Given the description of an element on the screen output the (x, y) to click on. 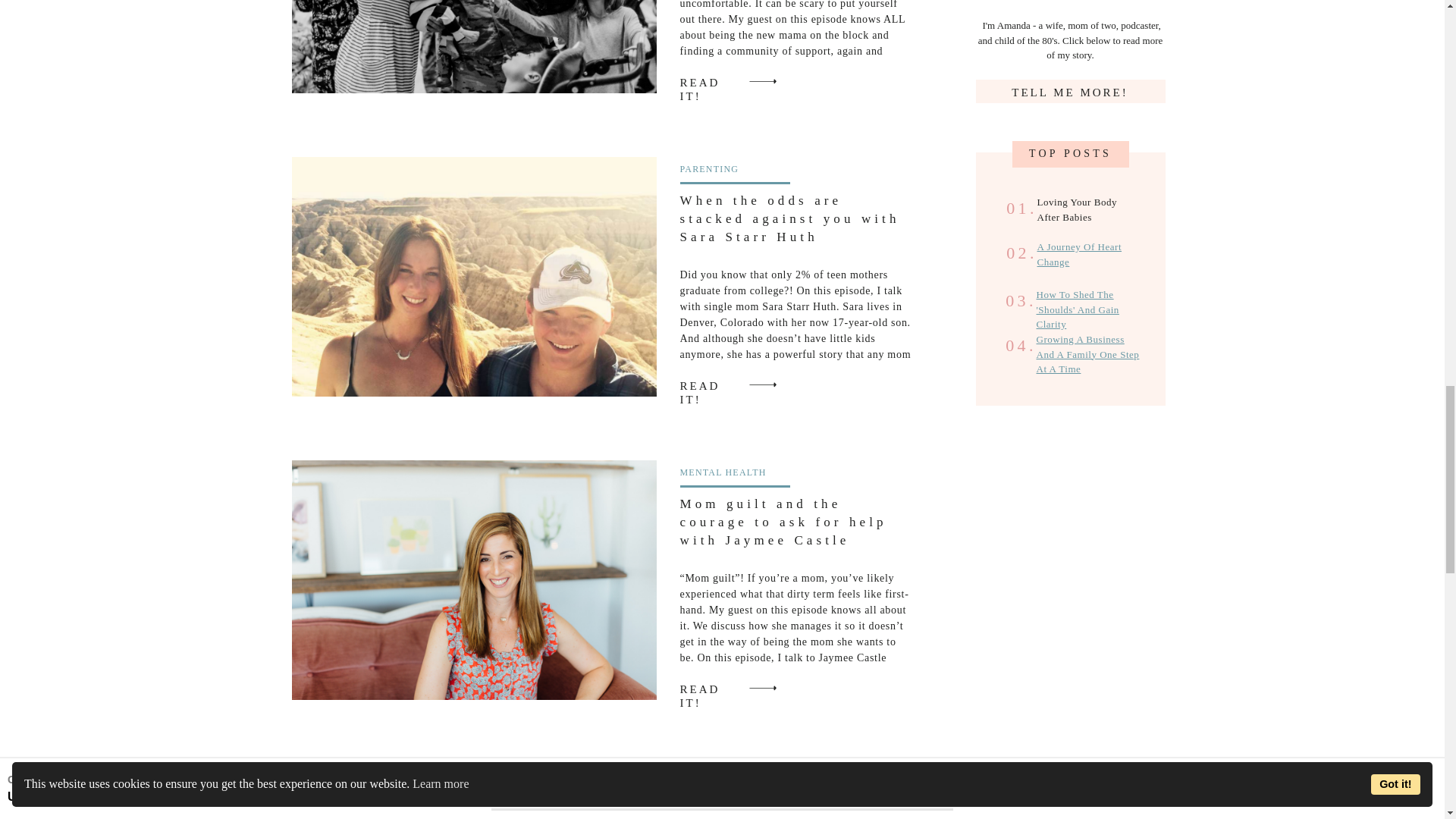
READ IT! (712, 80)
Creating authentic community anywhere with Meagan Riggs (712, 80)
Choosing faith in the waiting with Ashleigh Mackey (473, 791)
Mom guilt and the courage to ask for help with Jaymee Castle (782, 521)
How To Shed The 'Shoulds' And Gain Clarity (1076, 309)
A Journey Of Heart Change (1079, 253)
READ IT! (712, 384)
READ IT! (712, 687)
When the odds are stacked against you with Sara Starr Huth (761, 383)
When the odds are stacked against you with Sara Starr Huth (712, 384)
Creating authentic community anywhere with Meagan Riggs (473, 46)
MENTAL HEALTH (722, 471)
Loving Your Body After Babies (1087, 207)
When the odds are stacked against you with Sara Starr Huth (789, 218)
Creating authentic community anywhere with Meagan Riggs (761, 80)
